Given the description of an element on the screen output the (x, y) to click on. 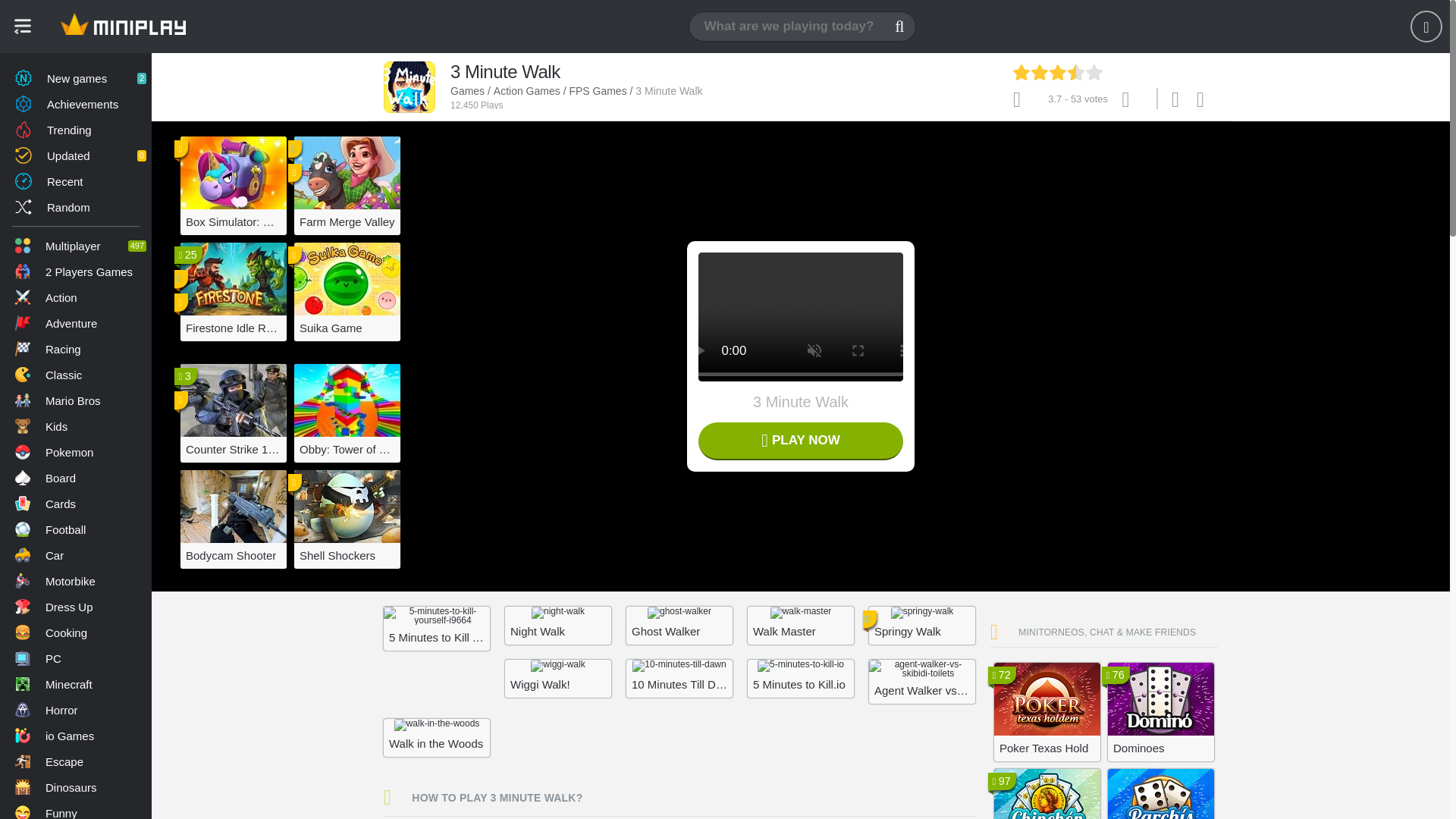
Random (75, 207)
Updated (75, 155)
Classic (75, 374)
io Games (75, 735)
Escape (75, 760)
PC (75, 657)
Pokemon Games (75, 451)
Recent (75, 181)
Dinosaurs (75, 786)
Kids Games (75, 425)
